Given the description of an element on the screen output the (x, y) to click on. 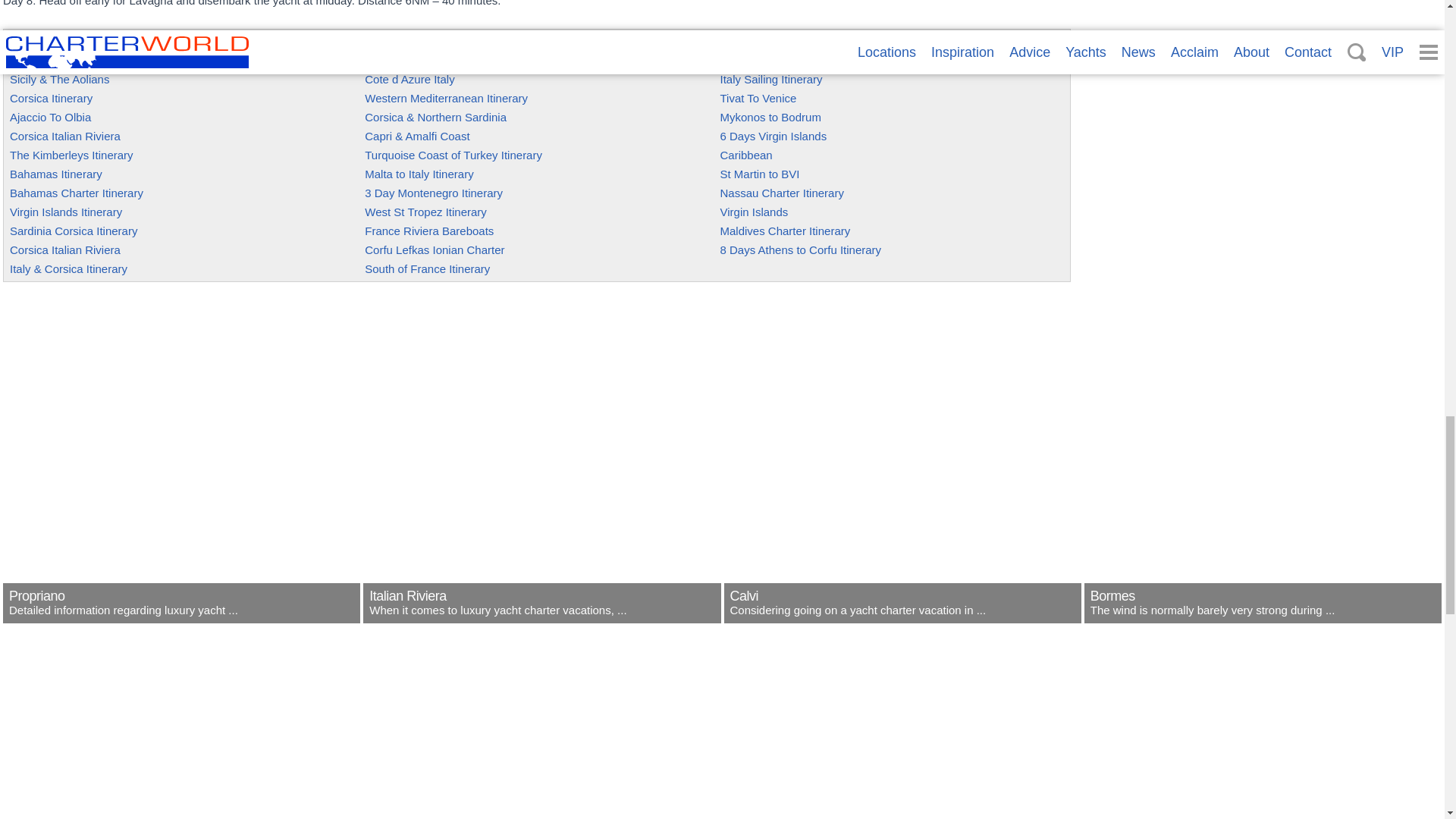
Yacht Charter Itineraries (75, 41)
Bahamas Charter Itinerary (76, 192)
Virgin Islands Itinerary (66, 211)
Corsica Itinerary (51, 97)
Propriano (180, 613)
Ajaccio To Olbia (50, 116)
The Kimberleys Itinerary (71, 154)
Bahamas Itinerary (55, 173)
Amalfi Itinerary (47, 60)
Italian Riviera (541, 613)
